Given the description of an element on the screen output the (x, y) to click on. 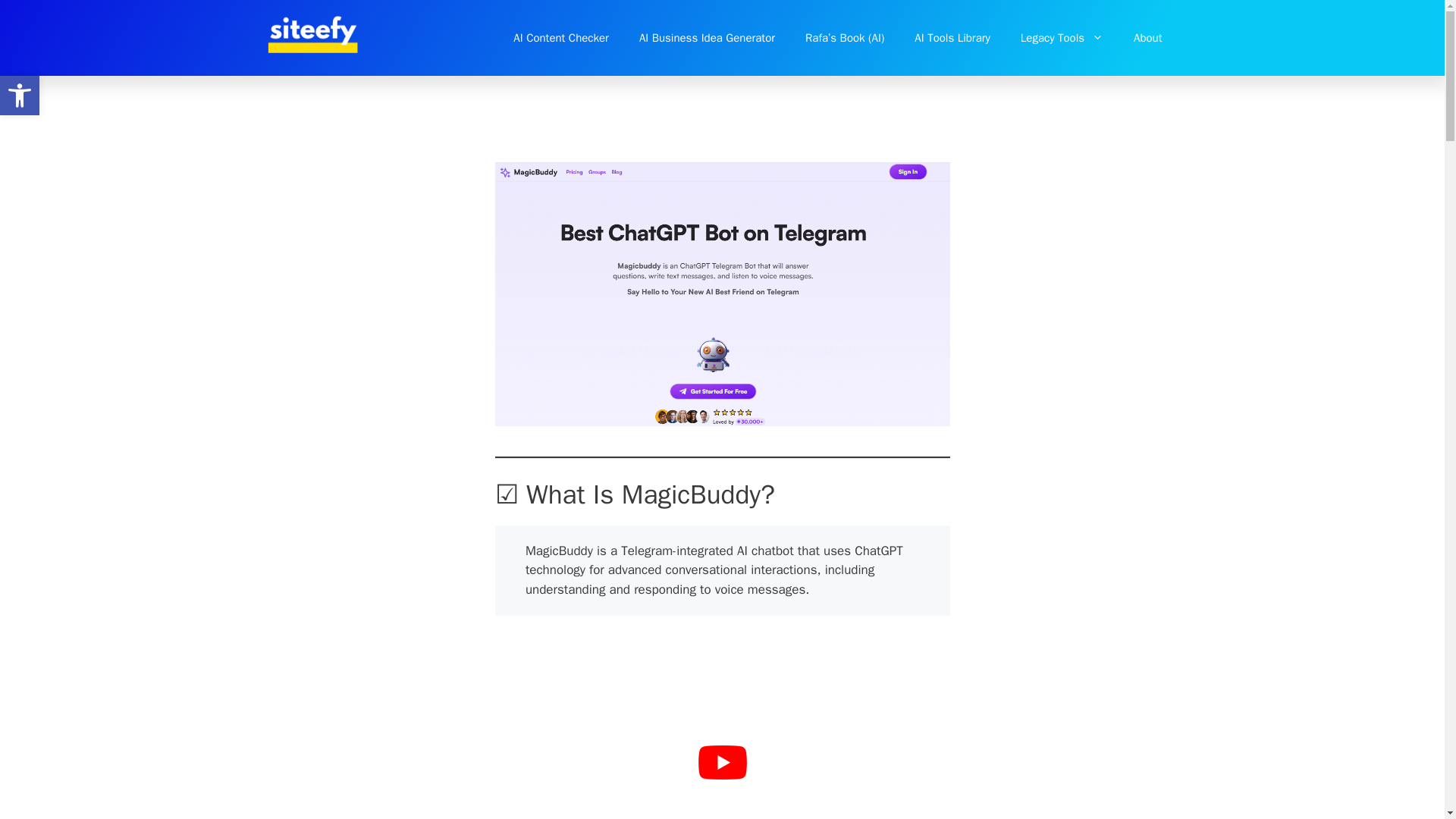
Legacy Tools (1062, 37)
Accessibility Tools (19, 95)
AI Tools Library (951, 37)
AI Content Checker (560, 37)
About (1147, 37)
Accessibility Tools (19, 95)
AI Business Idea Generator (19, 95)
